Given the description of an element on the screen output the (x, y) to click on. 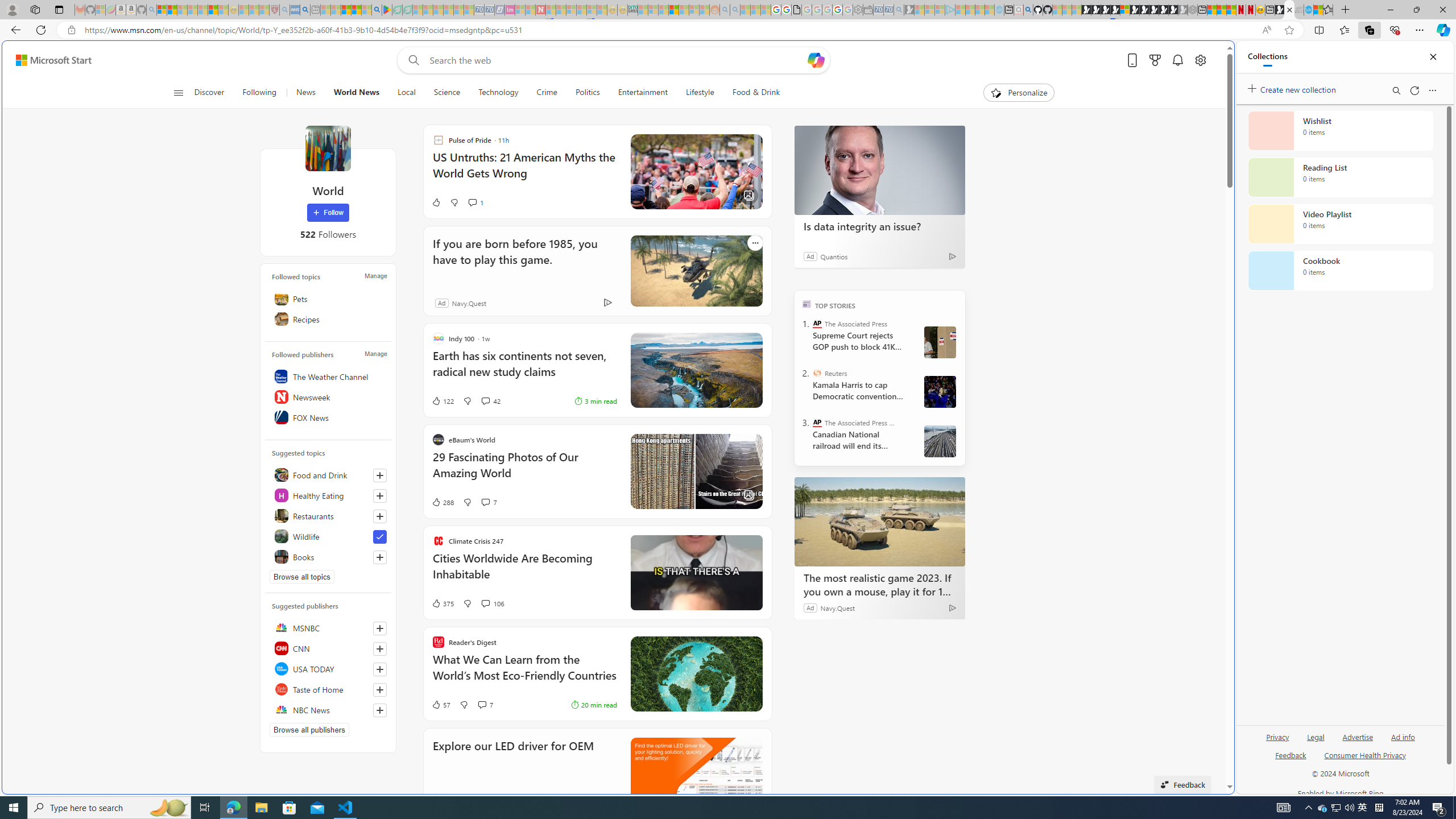
Unfollow this topic (379, 536)
57 Like (440, 704)
